Given the description of an element on the screen output the (x, y) to click on. 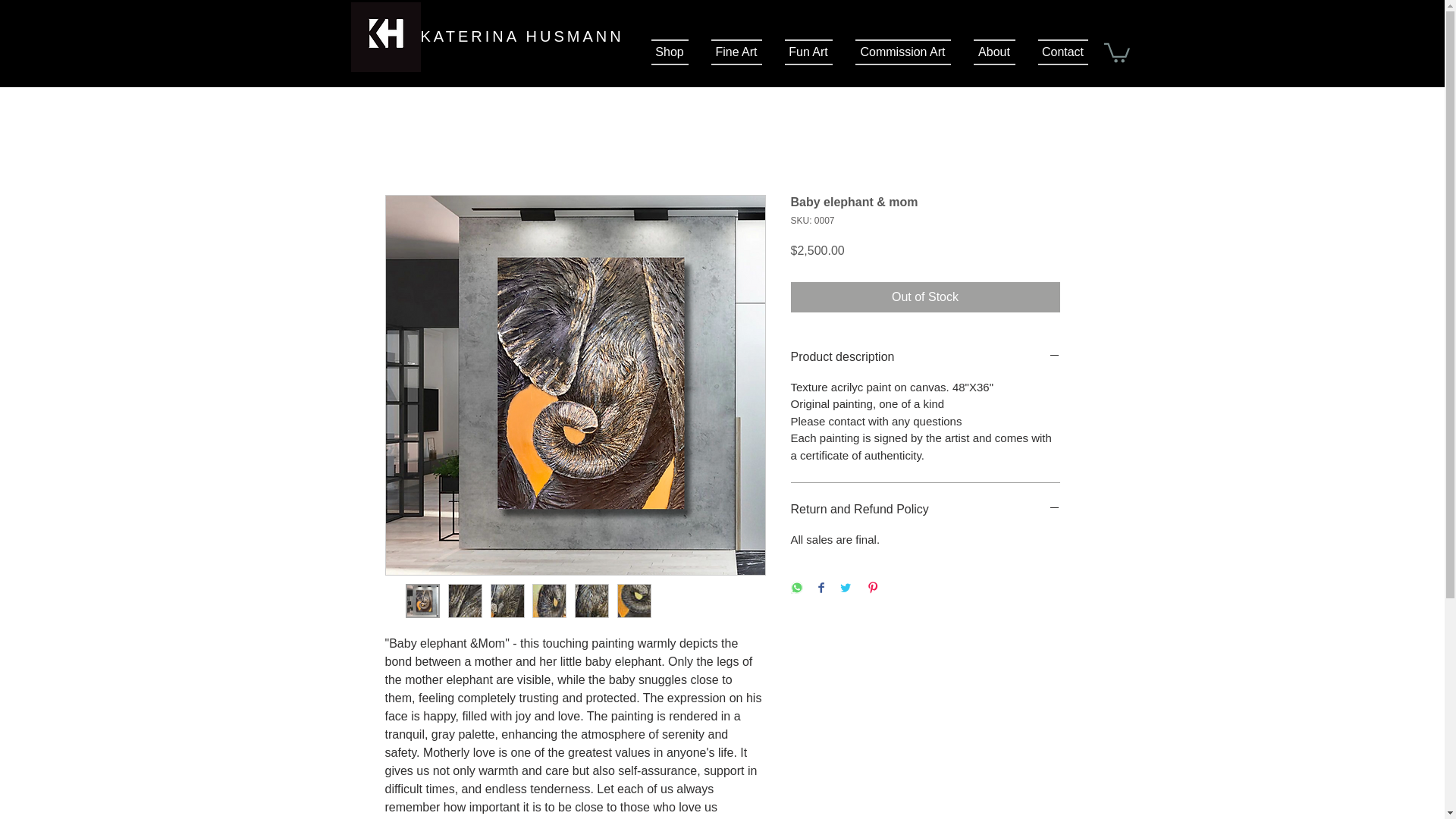
About (993, 52)
Commission Art (901, 52)
Fine Art (735, 52)
Shop (674, 52)
KATERINA HUSMANN (521, 36)
Return and Refund Policy (924, 509)
Out of Stock (924, 296)
Product description (924, 356)
Contact (1056, 52)
Fun Art (808, 52)
